Given the description of an element on the screen output the (x, y) to click on. 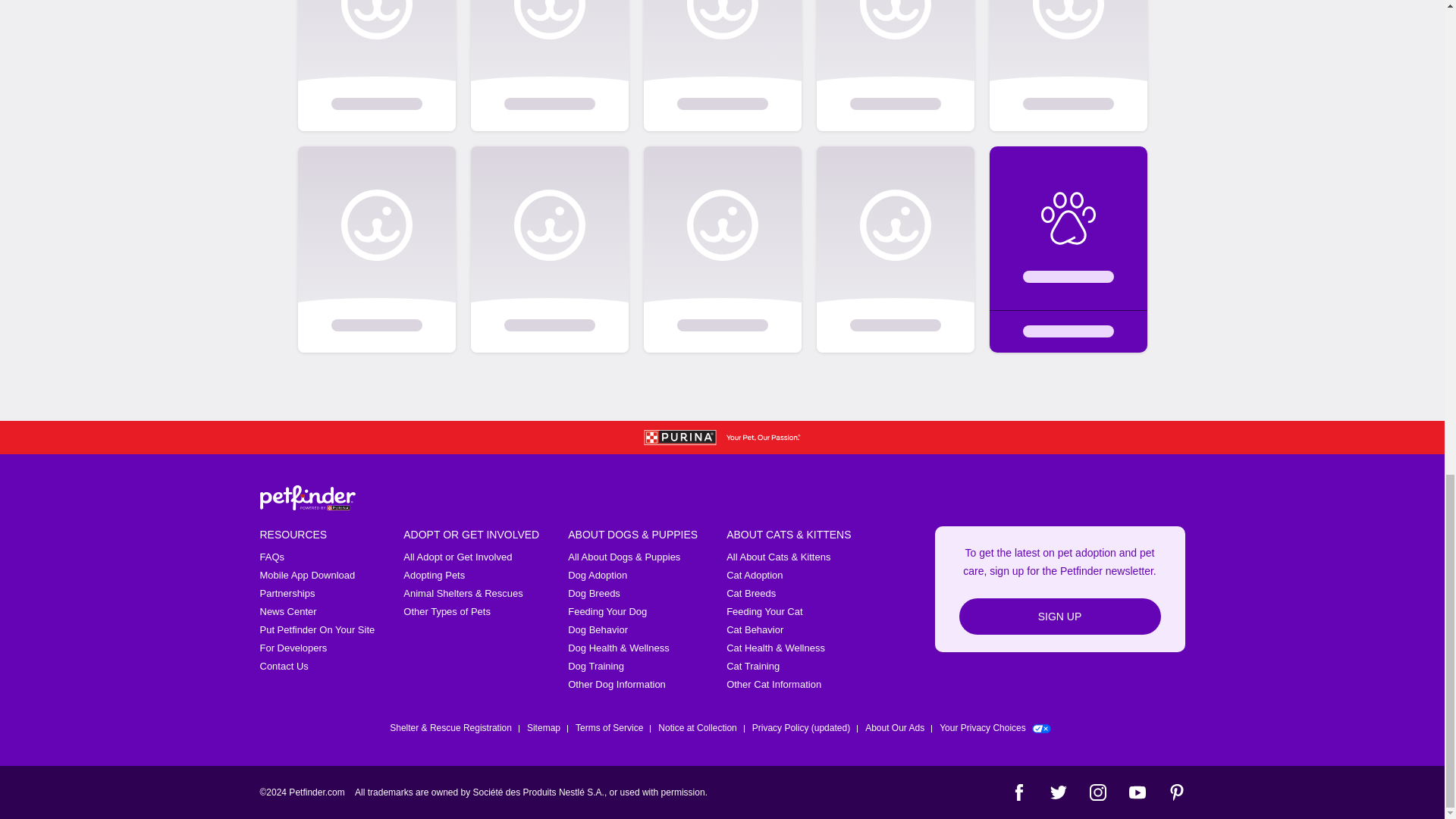
Petfinder Logo (307, 497)
Instagram (1097, 791)
Twitter (1057, 791)
Pinterest (1176, 791)
Facebook (1018, 791)
YouTube (1136, 791)
